Given the description of an element on the screen output the (x, y) to click on. 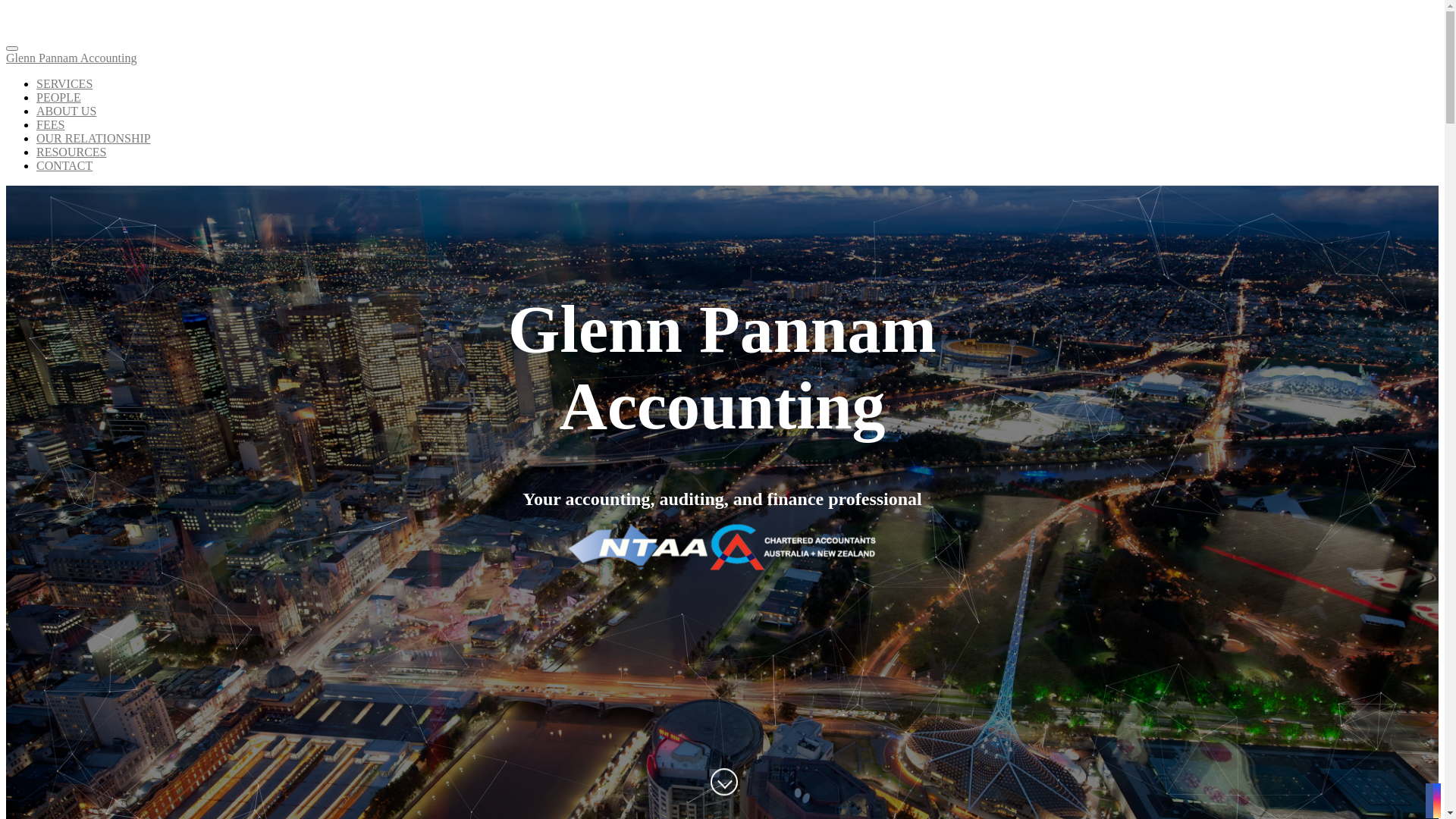
OUR RELATIONSHIP Element type: text (93, 137)
PEOPLE Element type: text (58, 97)
RESOURCES Element type: text (71, 151)
ABOUT US Element type: text (66, 110)
SERVICES Element type: text (64, 83)
Glenn Pannam Accounting Element type: text (722, 64)
FEES Element type: text (50, 124)
CONTACT Element type: text (64, 165)
